Given the description of an element on the screen output the (x, y) to click on. 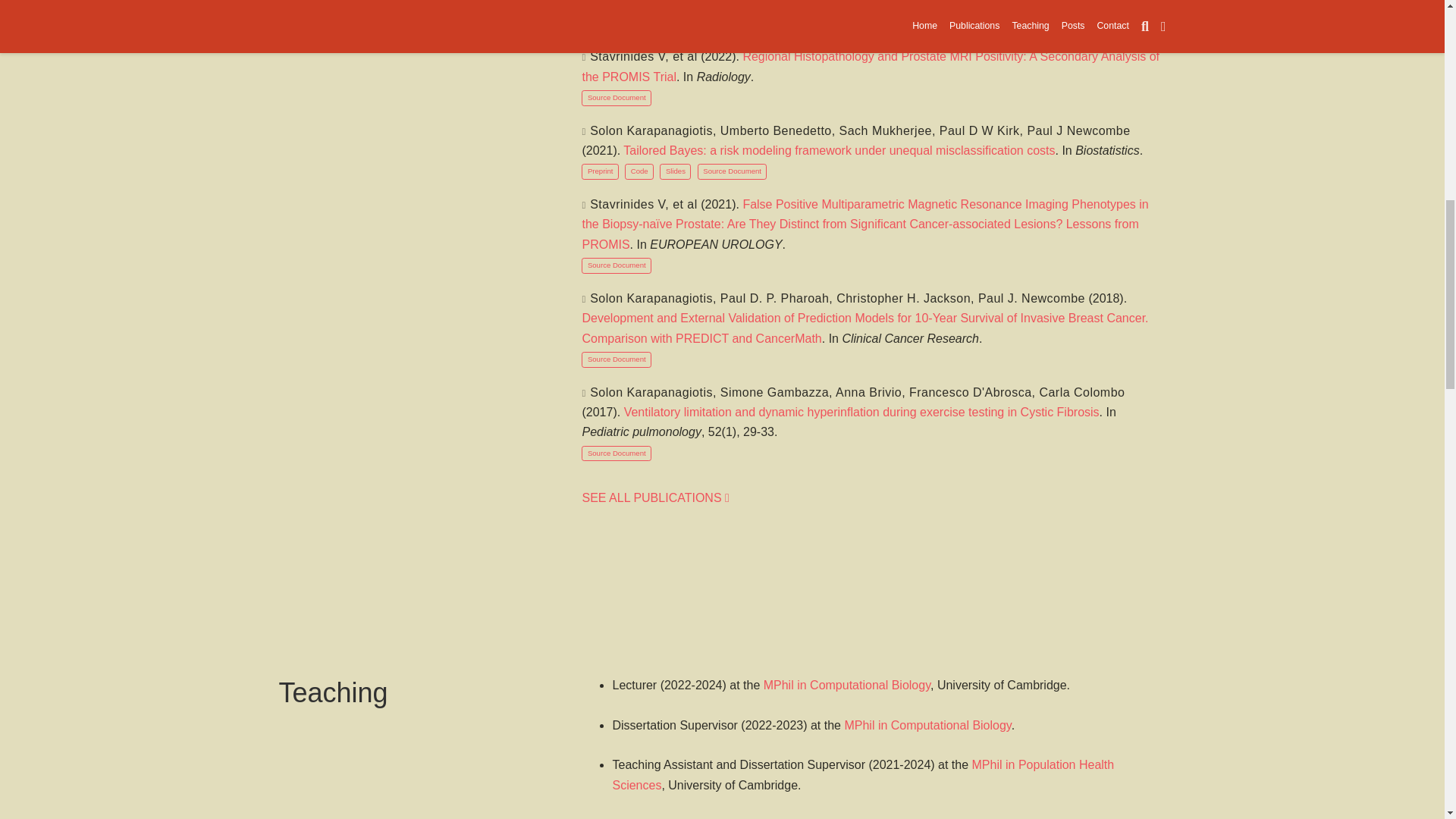
Umberto Benedetto (775, 130)
Paul D W Kirk (979, 130)
Sach Mukherjee (885, 130)
Source Document (732, 171)
et al (684, 56)
Stavrinides V (627, 56)
Slides (674, 171)
Solon Karapanagiotis (651, 130)
Paul J Newcombe (1077, 130)
Source Document (615, 98)
Code (638, 171)
Stavrinides V (627, 204)
Preprint (598, 171)
